Given the description of an element on the screen output the (x, y) to click on. 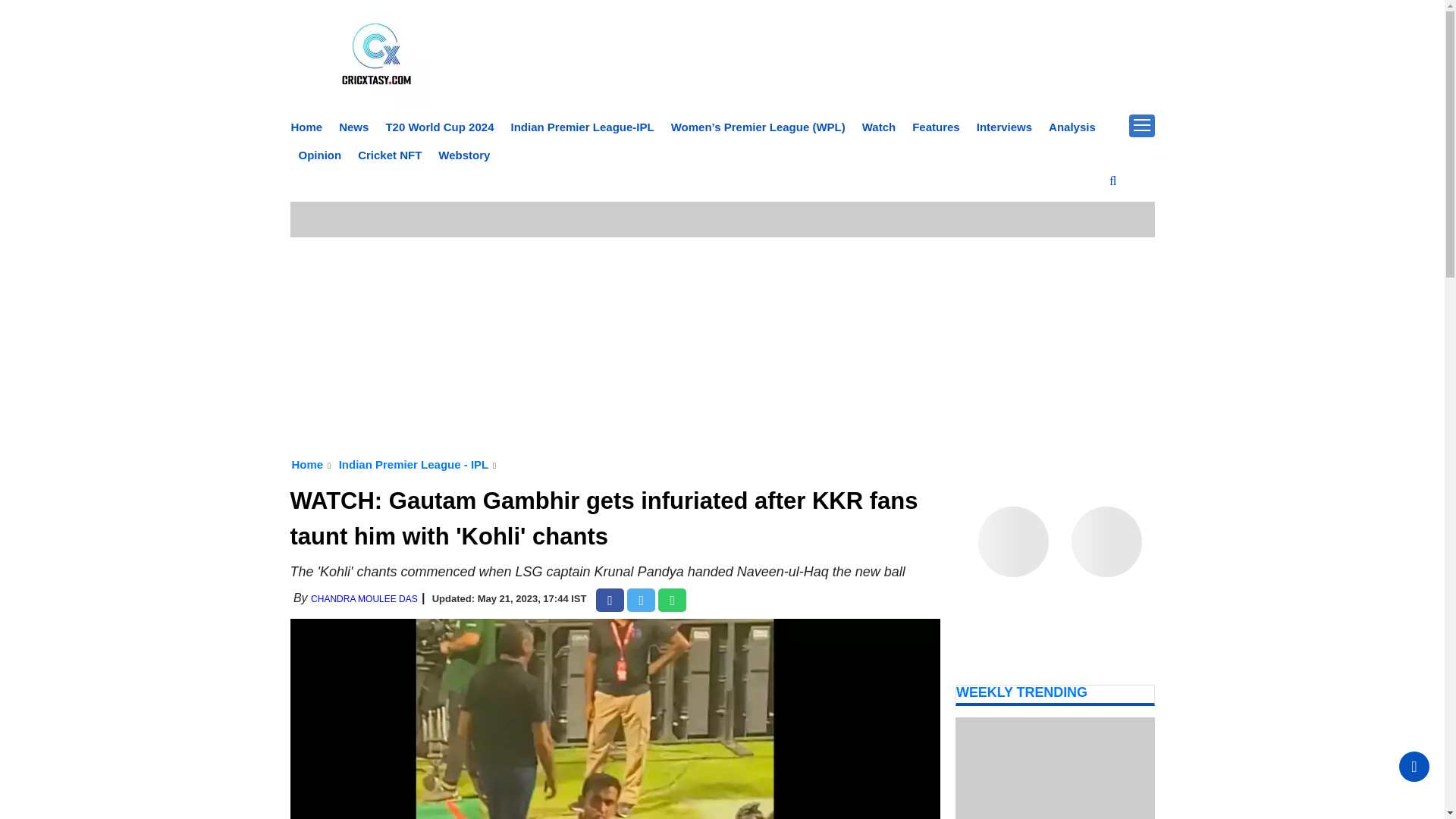
Analysis (1072, 126)
Indian Premier League - IPL (414, 463)
T20 World Cup 2024 (439, 126)
Indian Premier League-IPL (582, 126)
Watch (878, 126)
Opinion (320, 154)
News (353, 126)
Home (307, 126)
Webstory (463, 154)
